Given the description of an element on the screen output the (x, y) to click on. 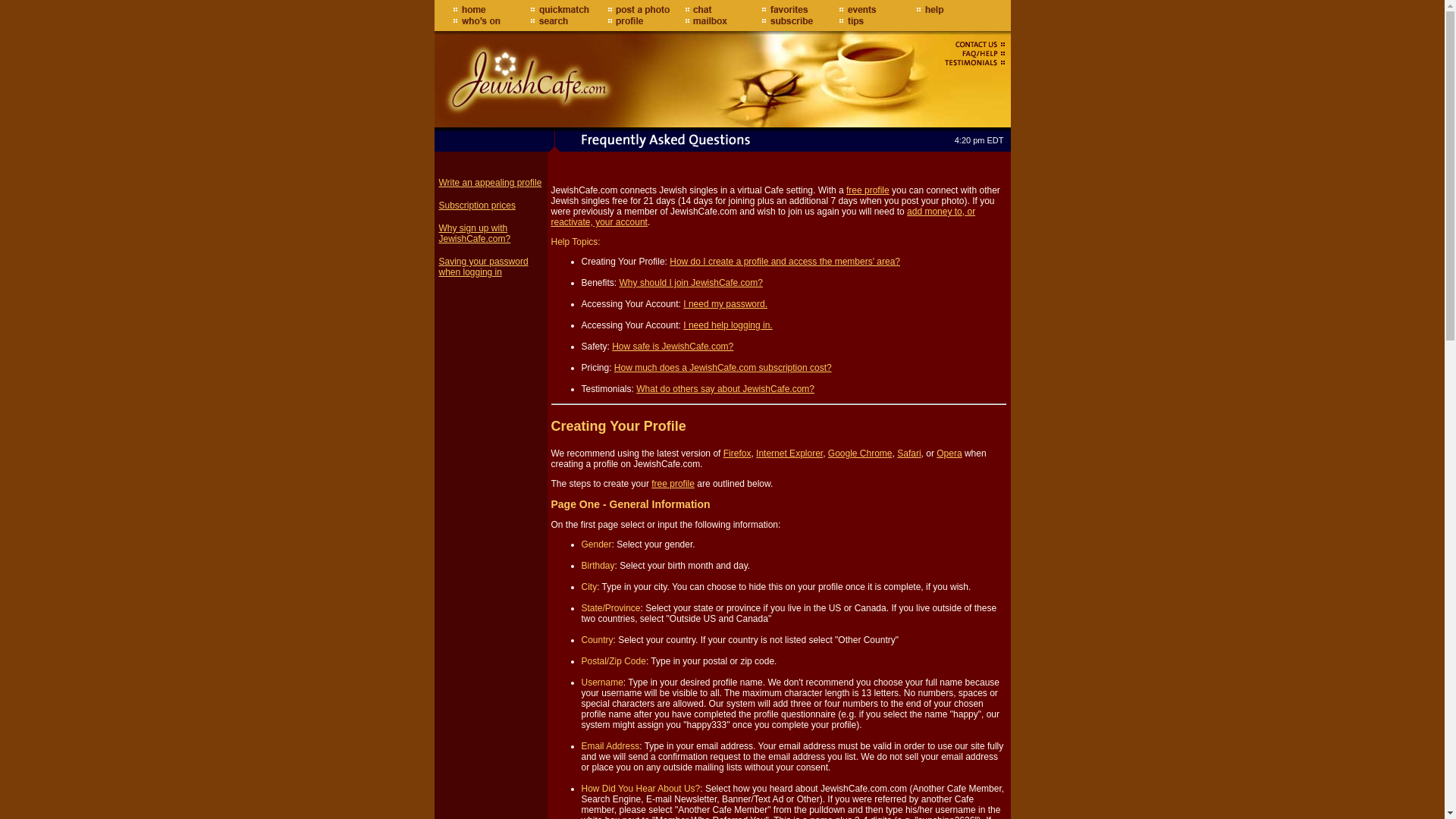
Google Chrome (860, 452)
What do others say about JewishCafe.com? (724, 388)
add money to, or reactivate, your account (762, 216)
I need my password. (724, 303)
How much does a JewishCafe.com subscription cost? (722, 367)
free profile (867, 190)
Opera (948, 452)
free profile (672, 483)
Why sign up with JewishCafe.com? (474, 233)
Firefox (737, 452)
